Given the description of an element on the screen output the (x, y) to click on. 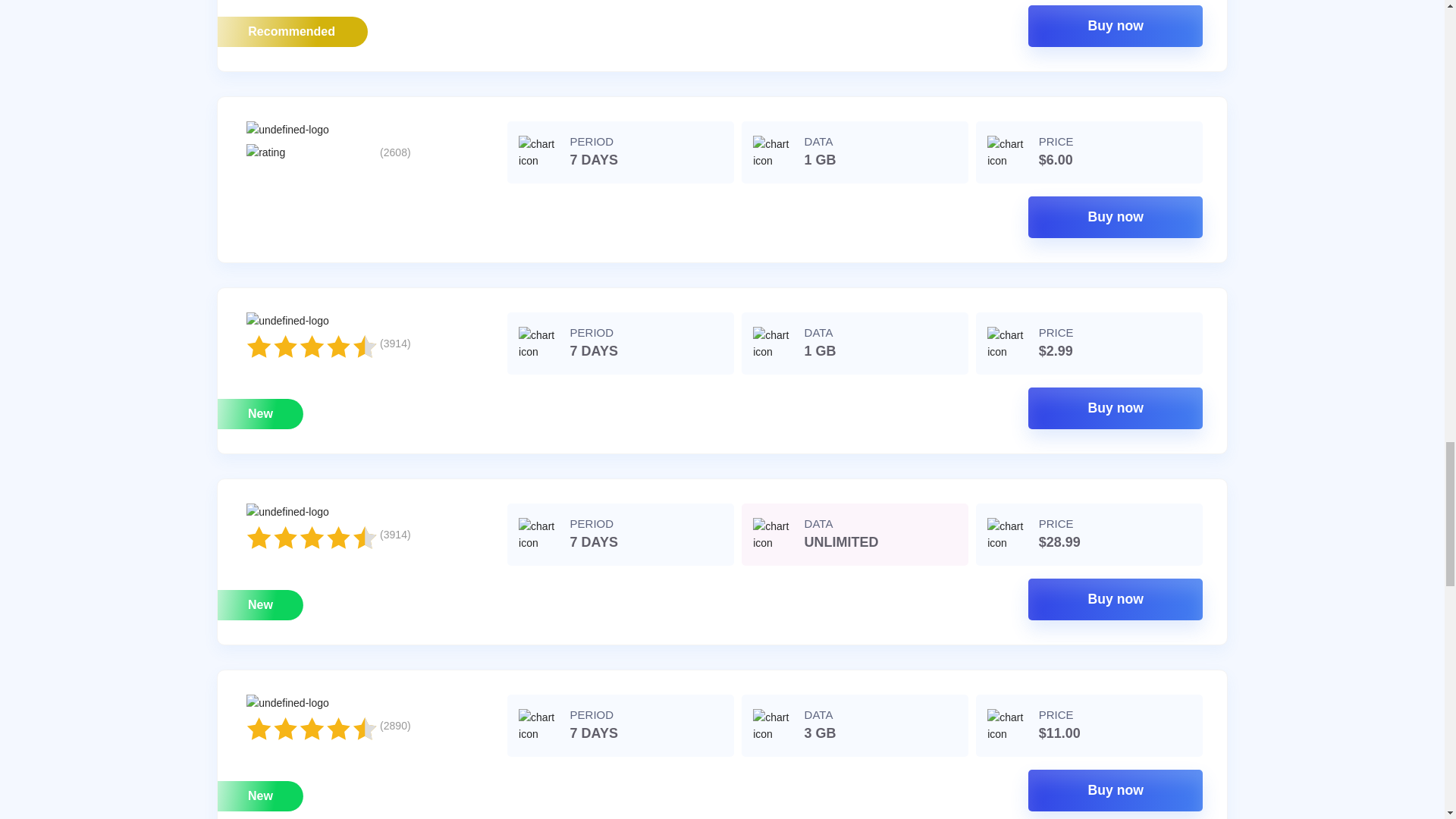
Buy now (1114, 217)
Buy now (1114, 598)
Buy now (1114, 790)
Buy now (1114, 408)
Buy now (1114, 25)
